Given the description of an element on the screen output the (x, y) to click on. 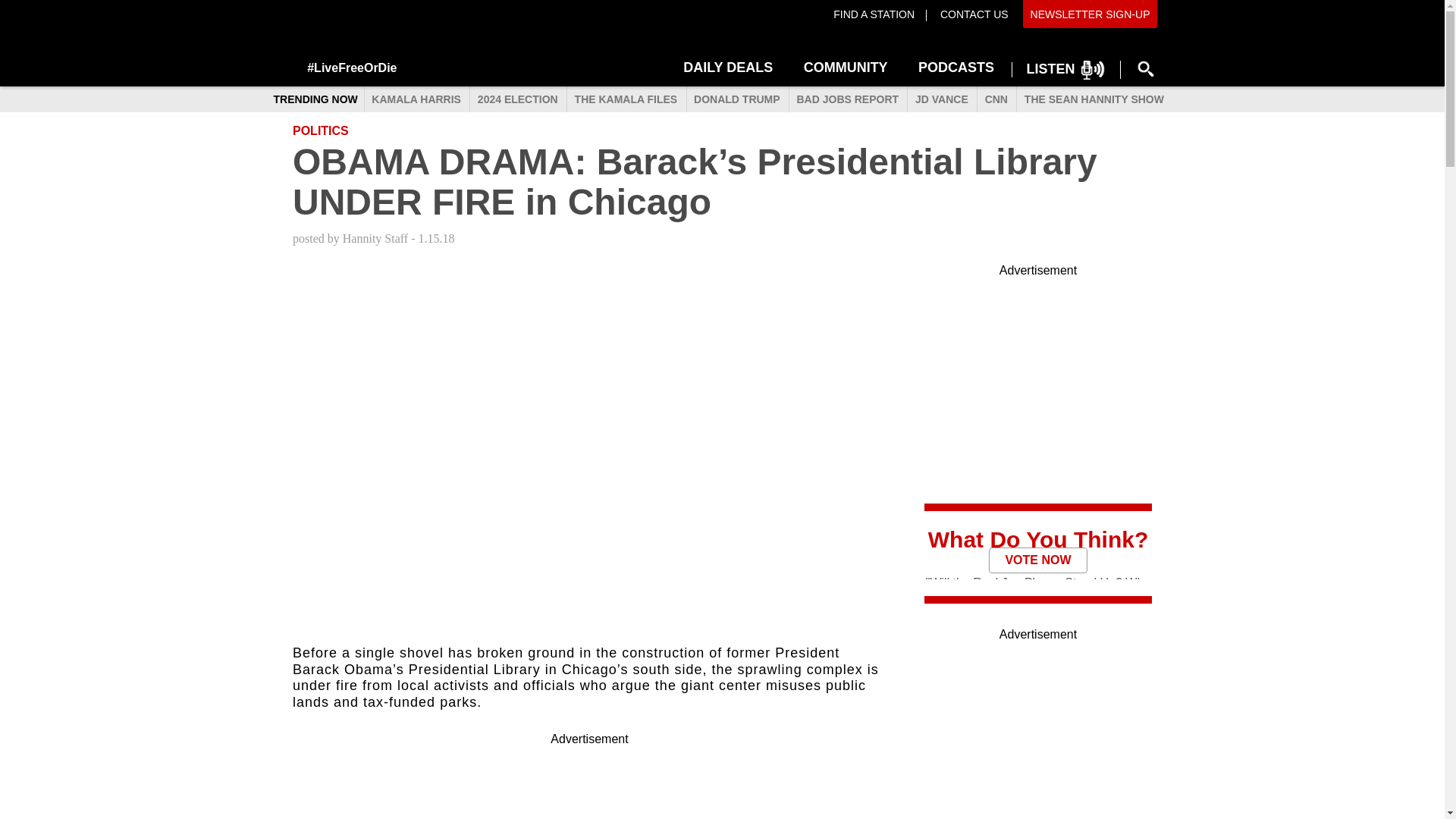
CNN (995, 99)
NEWSLETTER SIGN-UP (1090, 14)
BAD JOBS REPORT (847, 99)
CONTACT US (972, 14)
LISTEN (1066, 69)
2024 ELECTION (516, 99)
FIND A STATION (874, 14)
DONALD TRUMP (736, 99)
POLITICS (320, 130)
THE SEAN HANNITY SHOW (1093, 99)
JD VANCE (941, 99)
DAILY DEALS (727, 65)
KAMALA HARRIS (416, 99)
COMMUNITY (845, 65)
PODCASTS (955, 65)
